Given the description of an element on the screen output the (x, y) to click on. 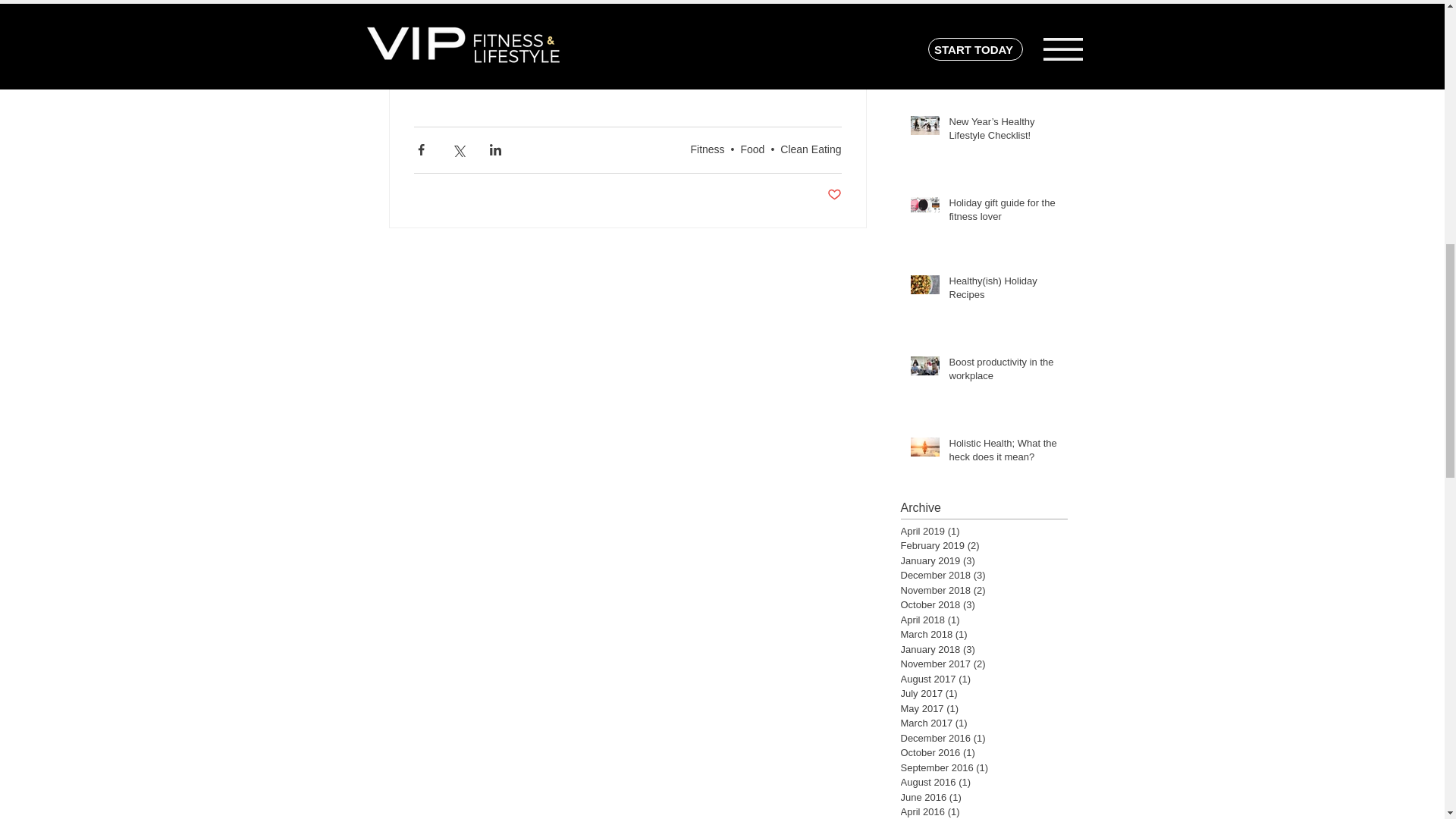
Clean Eating (810, 149)
Fitness (706, 149)
Holiday gift guide for the fitness lover (1003, 213)
Holistic Health; What the heck does it mean? (1003, 453)
Boost productivity in the workplace (1003, 372)
Food (751, 149)
Post not marked as liked (834, 195)
